Given the description of an element on the screen output the (x, y) to click on. 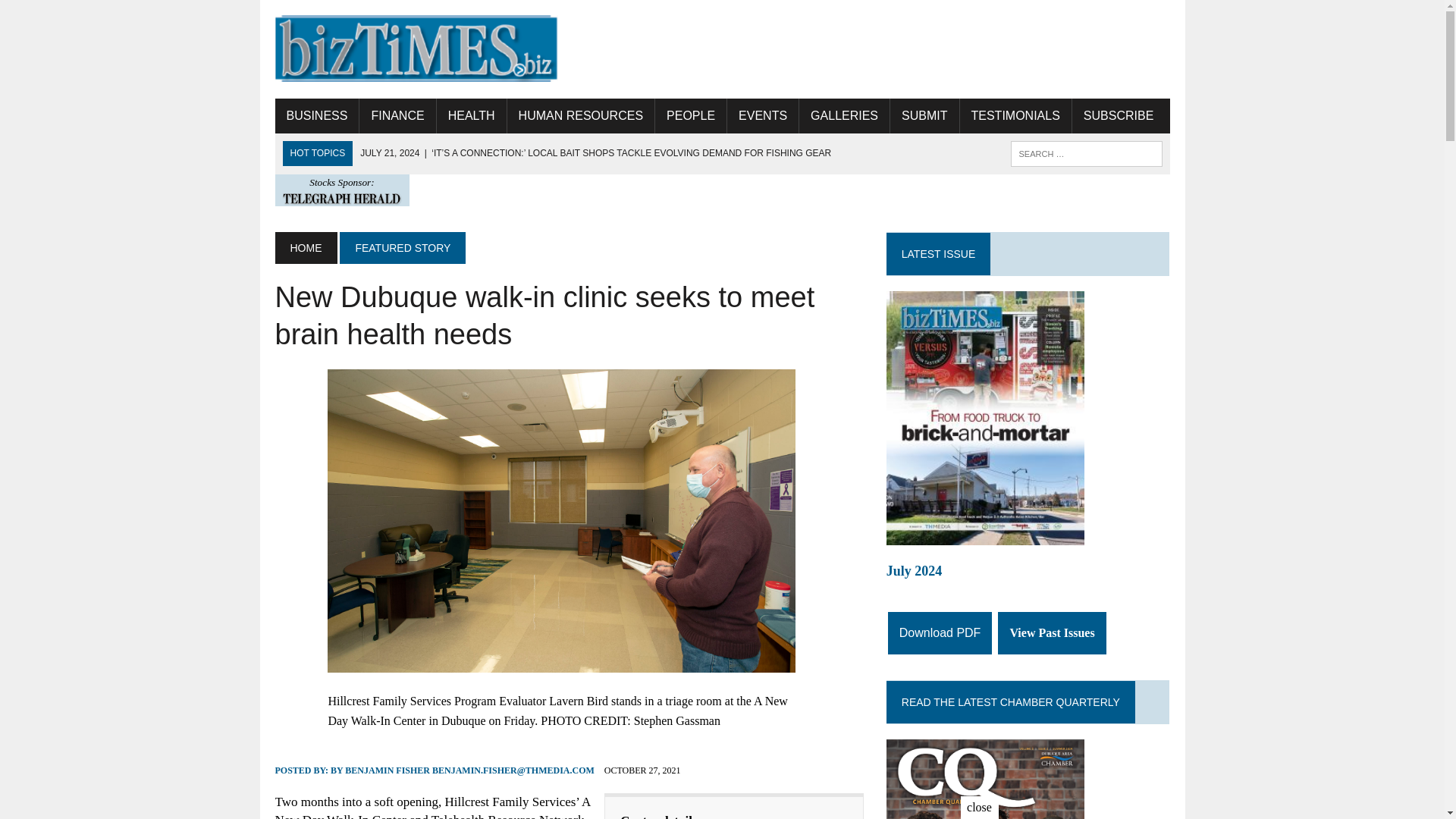
FINANCE (397, 115)
PEOPLE (690, 115)
TESTIMONIALS (1015, 115)
BUSINESS (316, 115)
HUMAN RESOURCES (579, 115)
HEALTH (471, 115)
SUBMIT (923, 115)
SUBSCRIBE (1117, 115)
BizTimes.biz (416, 48)
EVENTS (761, 115)
3rd party ad content (893, 49)
GALLERIES (844, 115)
